Given the description of an element on the screen output the (x, y) to click on. 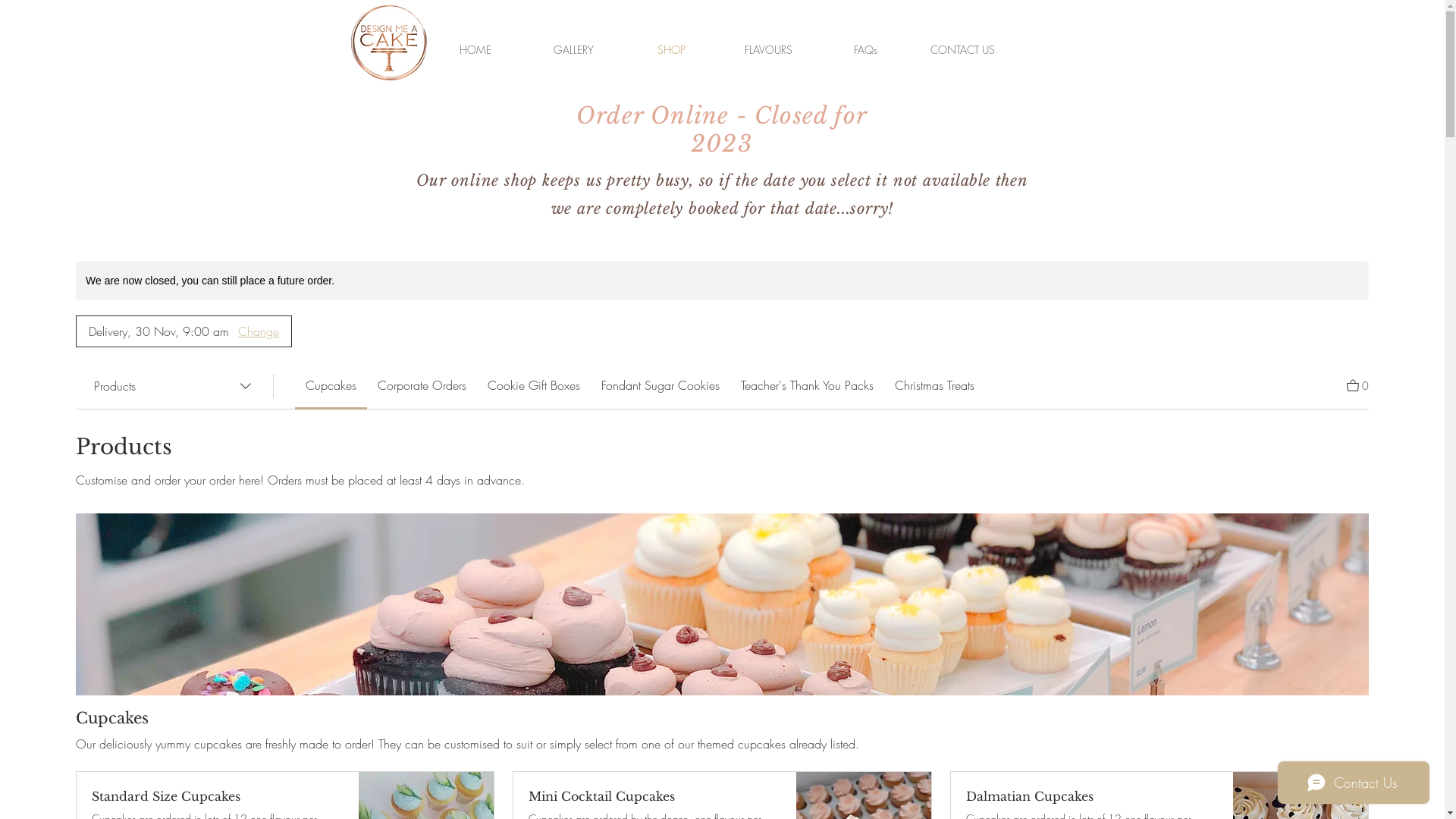
Change Element type: text (258, 331)
SHOP Element type: text (670, 49)
HOME Element type: text (475, 49)
Products Element type: text (174, 385)
Mini Cocktail Cupcakes Element type: text (654, 796)
Dalmatian Cupcakes Element type: text (1091, 796)
0 Element type: text (1357, 384)
CONTACT US Element type: text (962, 49)
Standard Size Cupcakes Element type: text (217, 796)
GALLERY Element type: text (573, 49)
FAQs Element type: text (865, 49)
FLAVOURS Element type: text (768, 49)
